Given the description of an element on the screen output the (x, y) to click on. 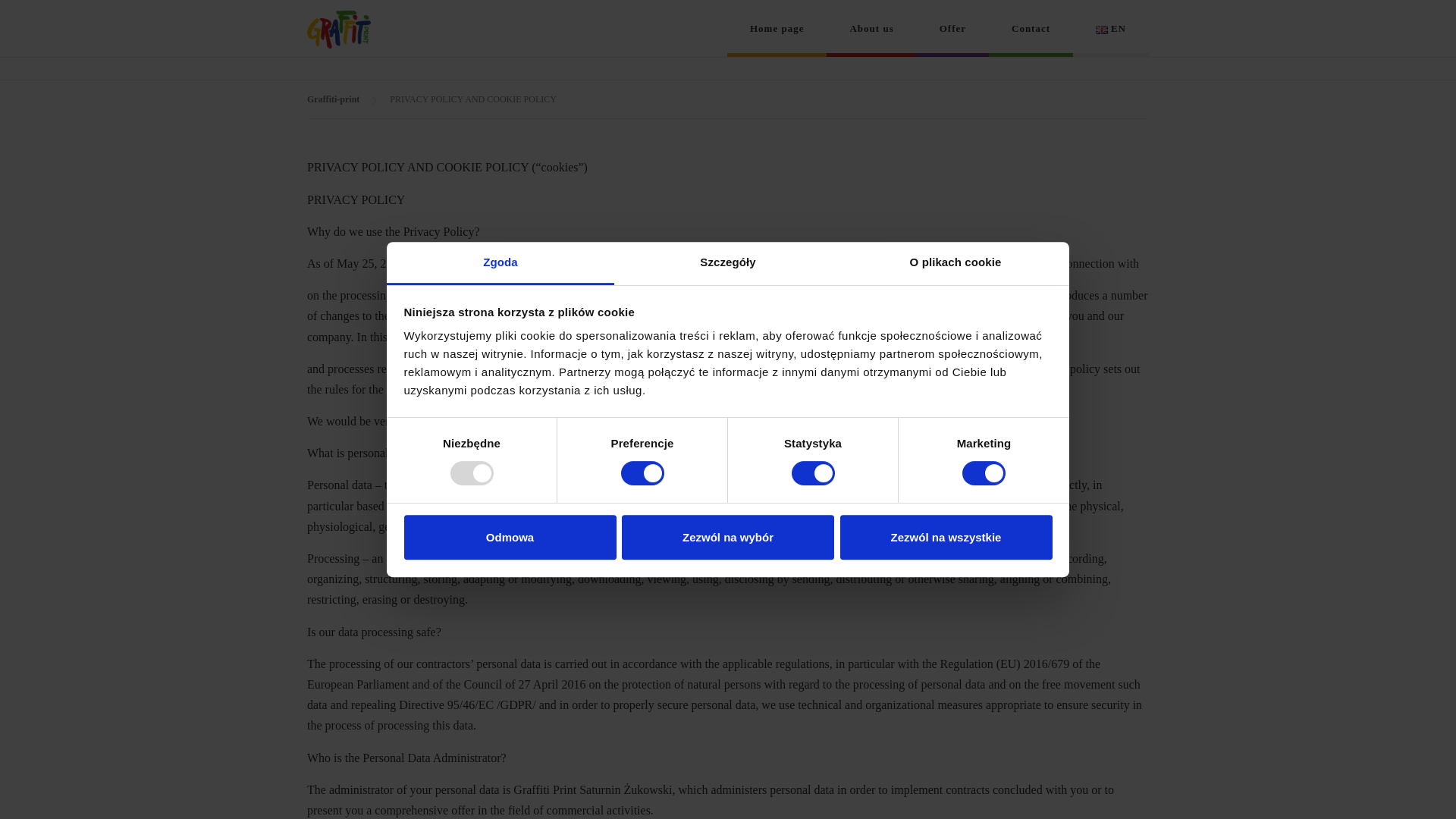
O plikach cookie (954, 263)
Home page (776, 28)
Zgoda (500, 263)
Odmowa (509, 537)
Offer (952, 28)
About us (871, 28)
